Given the description of an element on the screen output the (x, y) to click on. 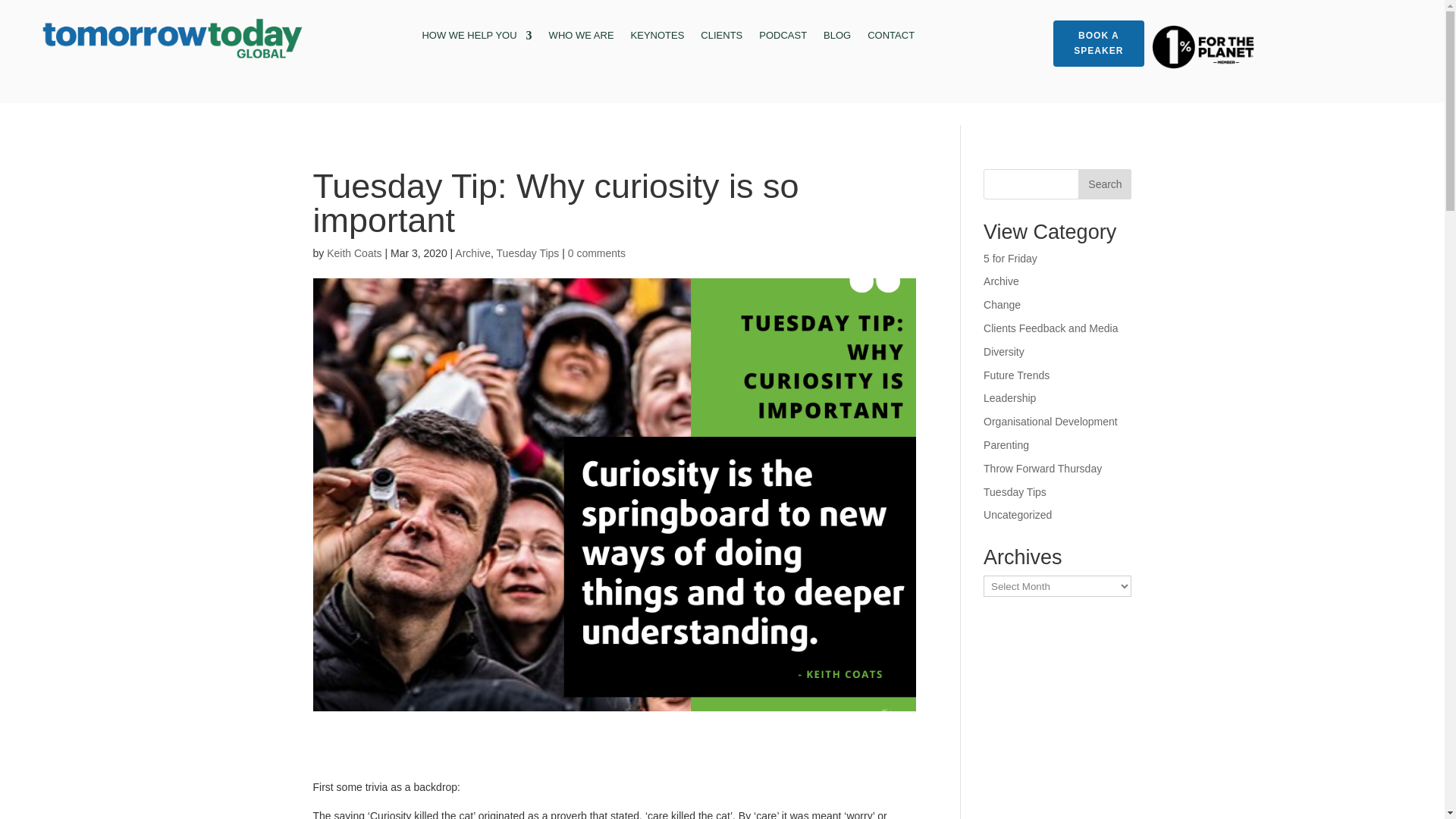
Keith Coats (353, 253)
BLOG (837, 38)
Tuesday Tips (527, 253)
CONTACT (890, 38)
Organisational Development (1051, 421)
Uncategorized (1017, 514)
KEYNOTES (657, 38)
HOW WE HELP YOU (476, 38)
PODCAST (782, 38)
0 comments (596, 253)
Tuesday Tips (1015, 491)
Search (1104, 183)
Parenting (1006, 444)
BOOK A SPEAKER (1098, 43)
Posts by Keith Coats (353, 253)
